Given the description of an element on the screen output the (x, y) to click on. 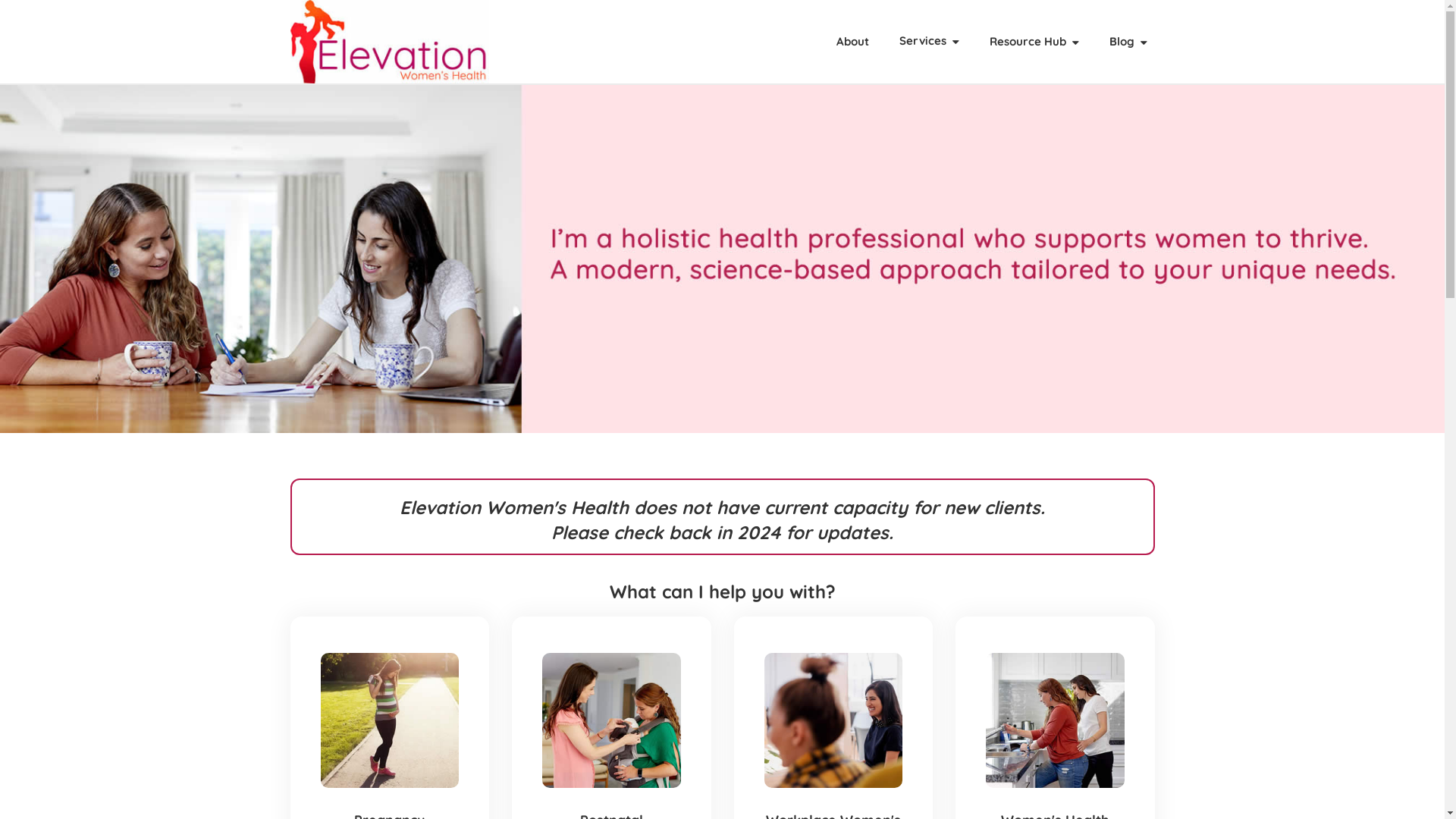
Blog Element type: text (1127, 41)
Elevation Women's Health Element type: hover (389, 41)
Resource Hub Element type: text (1033, 41)
Professional advice regarding your health and wellbeing Element type: hover (611, 719)
About Element type: text (851, 41)
